Given the description of an element on the screen output the (x, y) to click on. 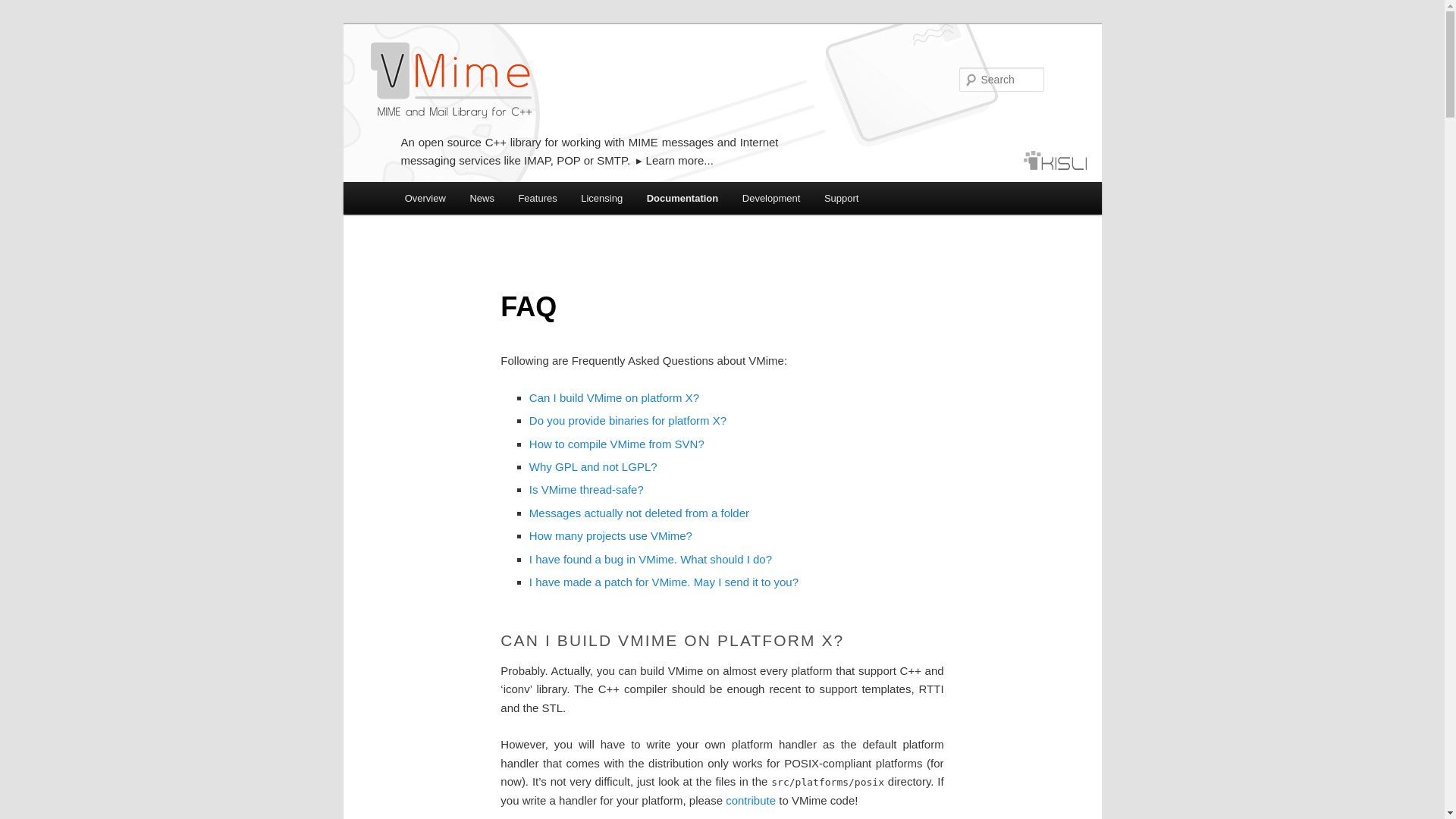
Documentation (682, 197)
VMime (450, 79)
I have made a patch for VMime. May I send it to you? (663, 581)
VMime (450, 79)
Overview (425, 197)
Messages actually not deleted from a folder (639, 512)
Skip to secondary content (479, 200)
Do you provide binaries for platform X? (627, 420)
Licensing (601, 197)
Skip to primary content (472, 200)
Why GPL and not LGPL? (593, 466)
How many projects use VMime? (611, 535)
Skip to primary content (472, 200)
Can I build VMime on platform X? (613, 397)
Development (771, 197)
